Given the description of an element on the screen output the (x, y) to click on. 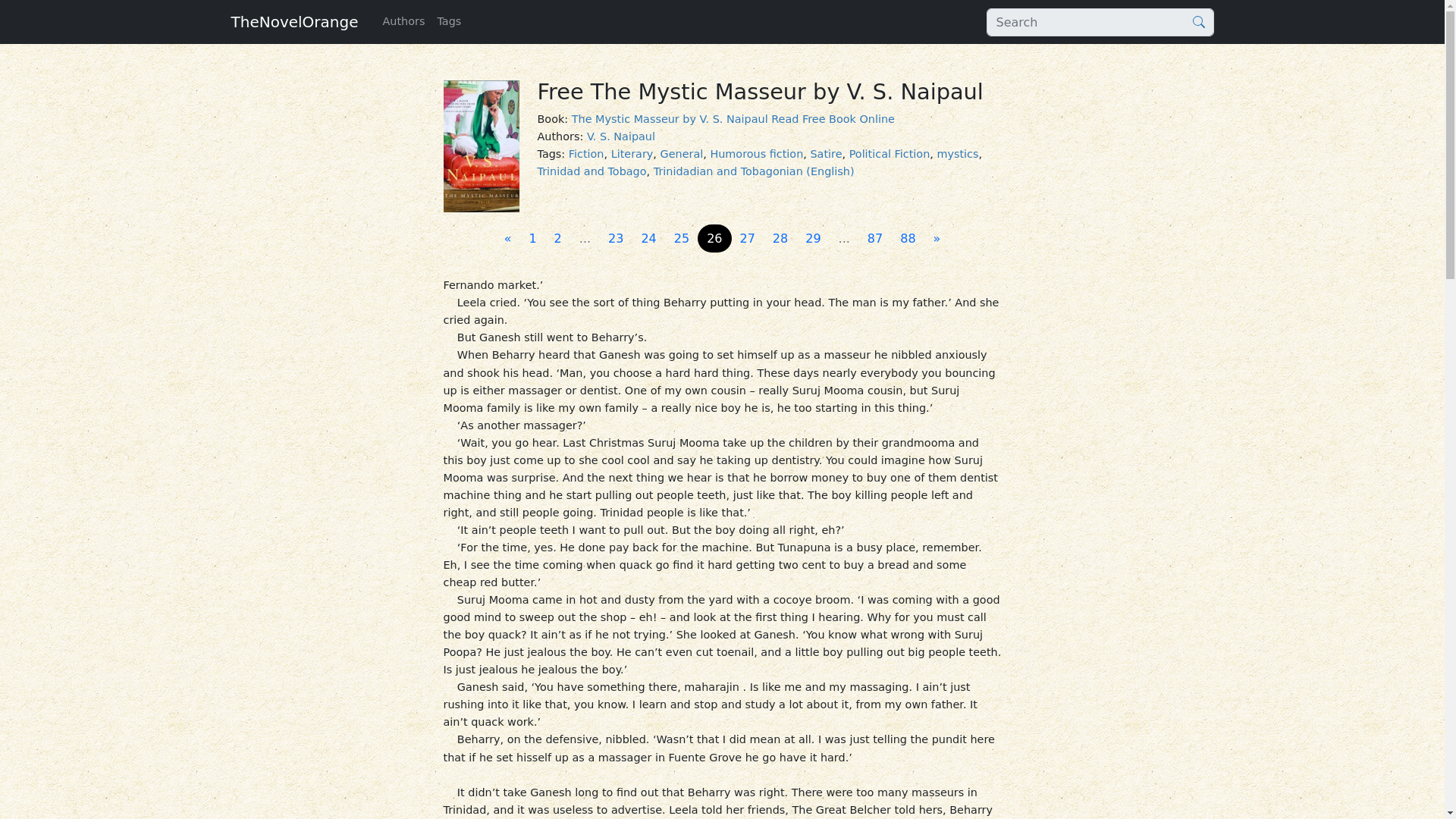
27 (747, 238)
28 (779, 238)
88 (907, 238)
Fiction (586, 153)
Political Fiction (889, 153)
The Mystic Masseur by V. S. Naipaul Read Free Book Online (733, 119)
TheNovelOrange (294, 21)
... (844, 238)
25 (681, 238)
Tags (448, 21)
2 (557, 238)
29 (812, 238)
... (584, 238)
23 (614, 238)
V. S. Naipaul (620, 136)
